Given the description of an element on the screen output the (x, y) to click on. 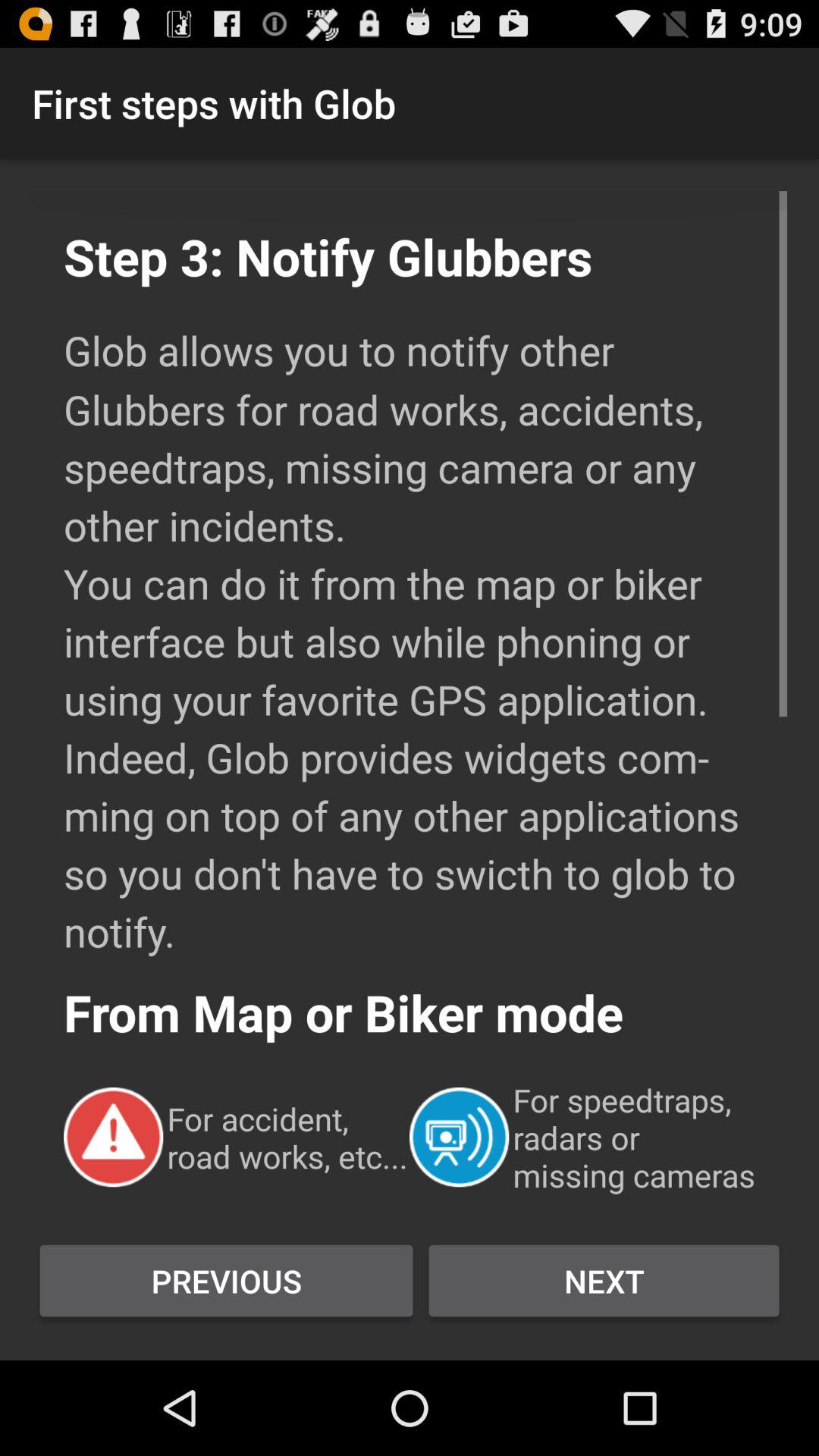
choose next button (603, 1280)
